Given the description of an element on the screen output the (x, y) to click on. 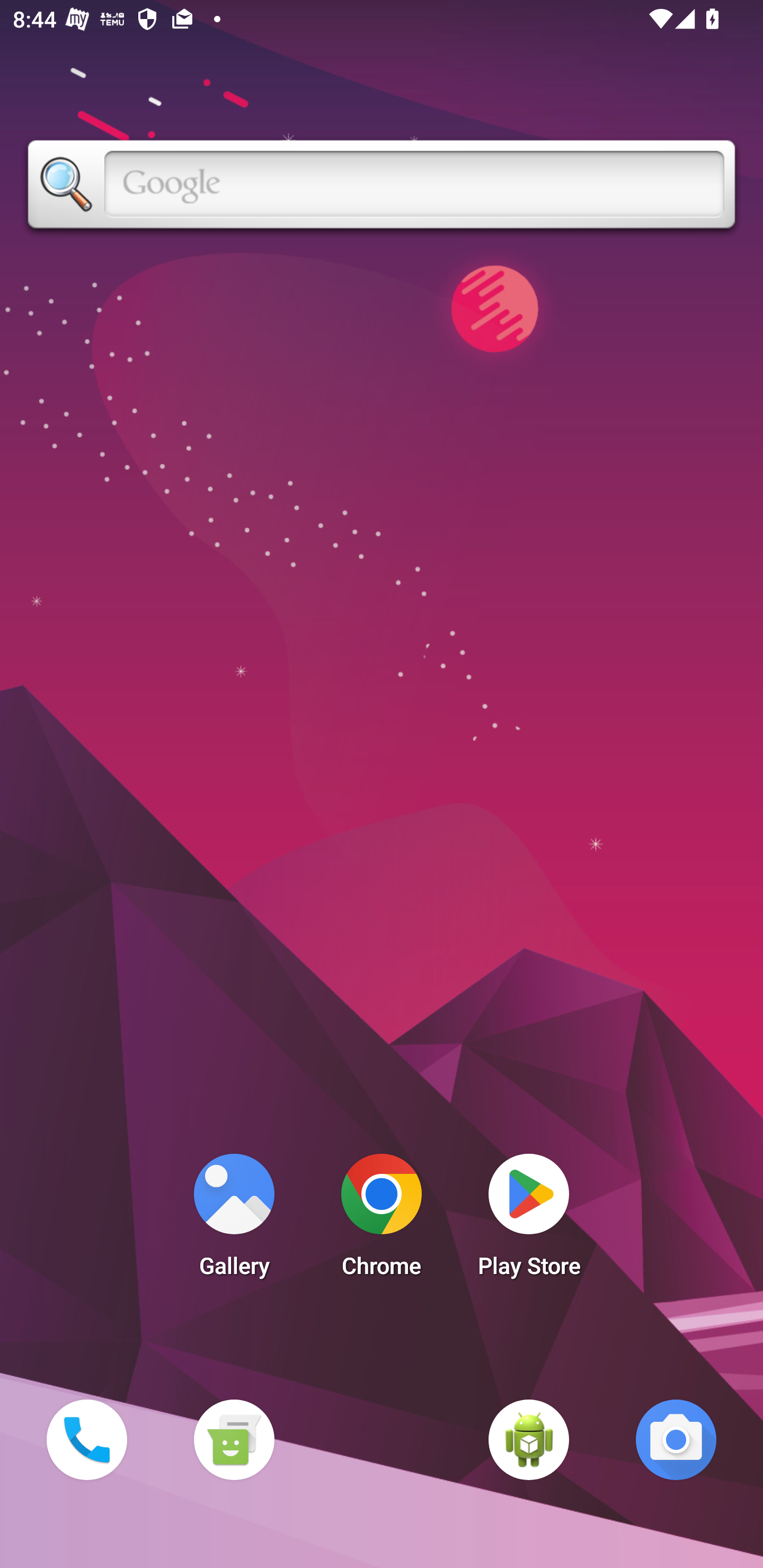
Gallery (233, 1220)
Chrome (381, 1220)
Play Store (528, 1220)
Phone (86, 1439)
Messaging (233, 1439)
WebView Browser Tester (528, 1439)
Camera (676, 1439)
